Given the description of an element on the screen output the (x, y) to click on. 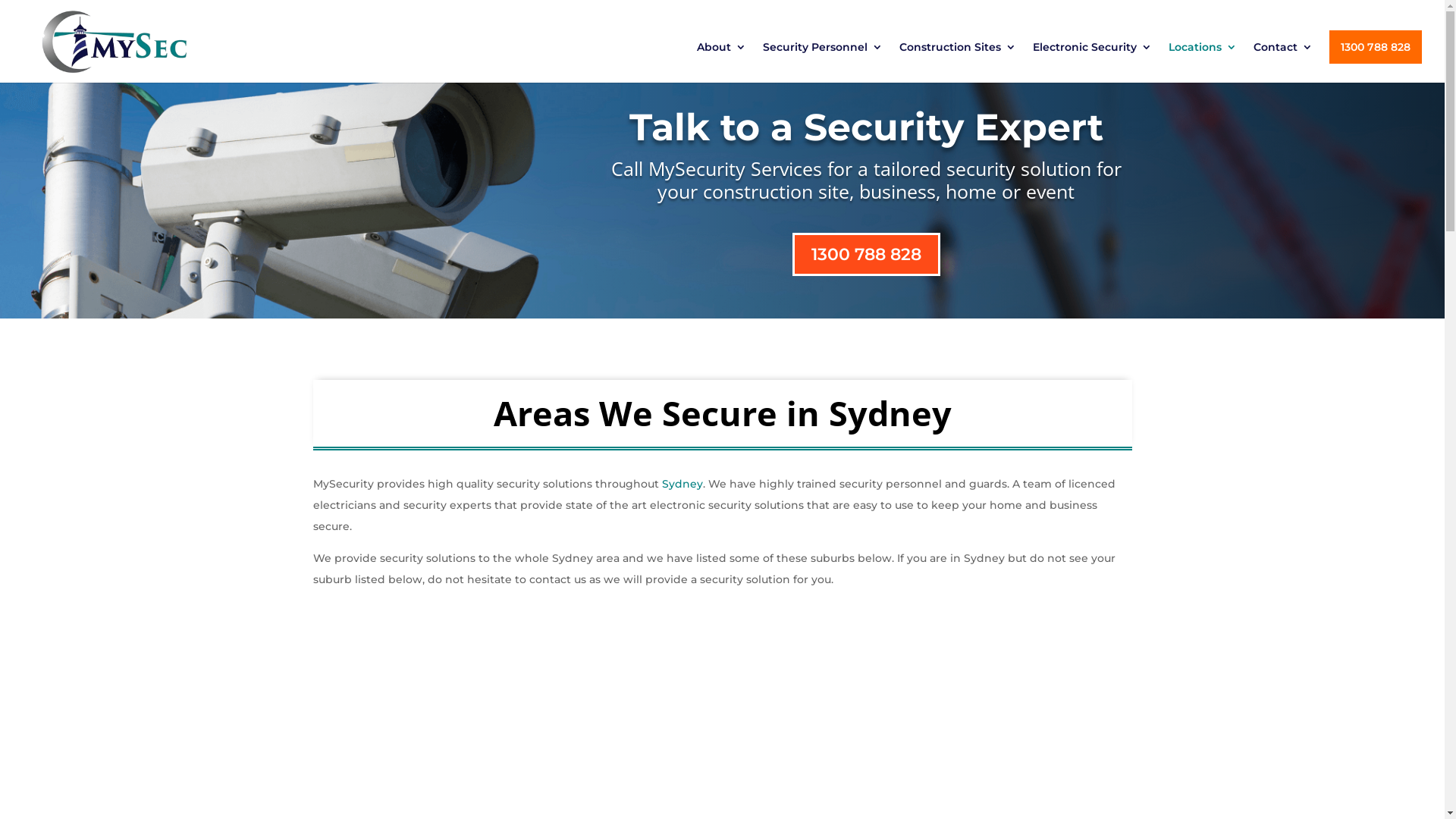
About Element type: text (721, 61)
Construction Sites Element type: text (957, 61)
Security Personnel Element type: text (822, 61)
Sydney Element type: text (681, 483)
1300 788 828 Element type: text (866, 254)
Contact Element type: text (1282, 61)
Electronic Security Element type: text (1091, 61)
1300 788 828 Element type: text (1375, 46)
Locations Element type: text (1202, 61)
